Given the description of an element on the screen output the (x, y) to click on. 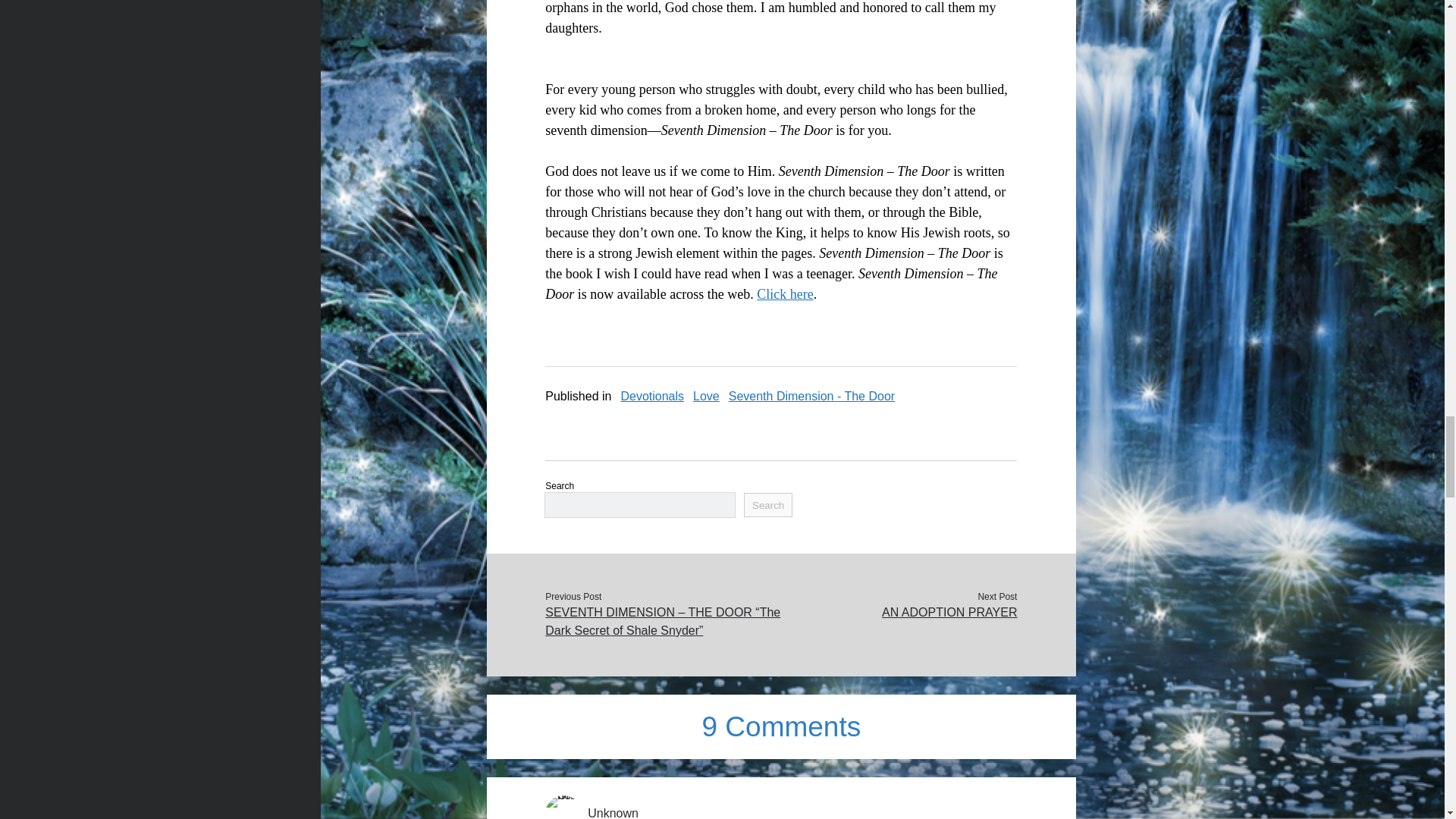
View all posts in Seventh Dimension - The Door (812, 396)
View all posts in Devotionals (652, 396)
View all posts in Love (706, 396)
